Given the description of an element on the screen output the (x, y) to click on. 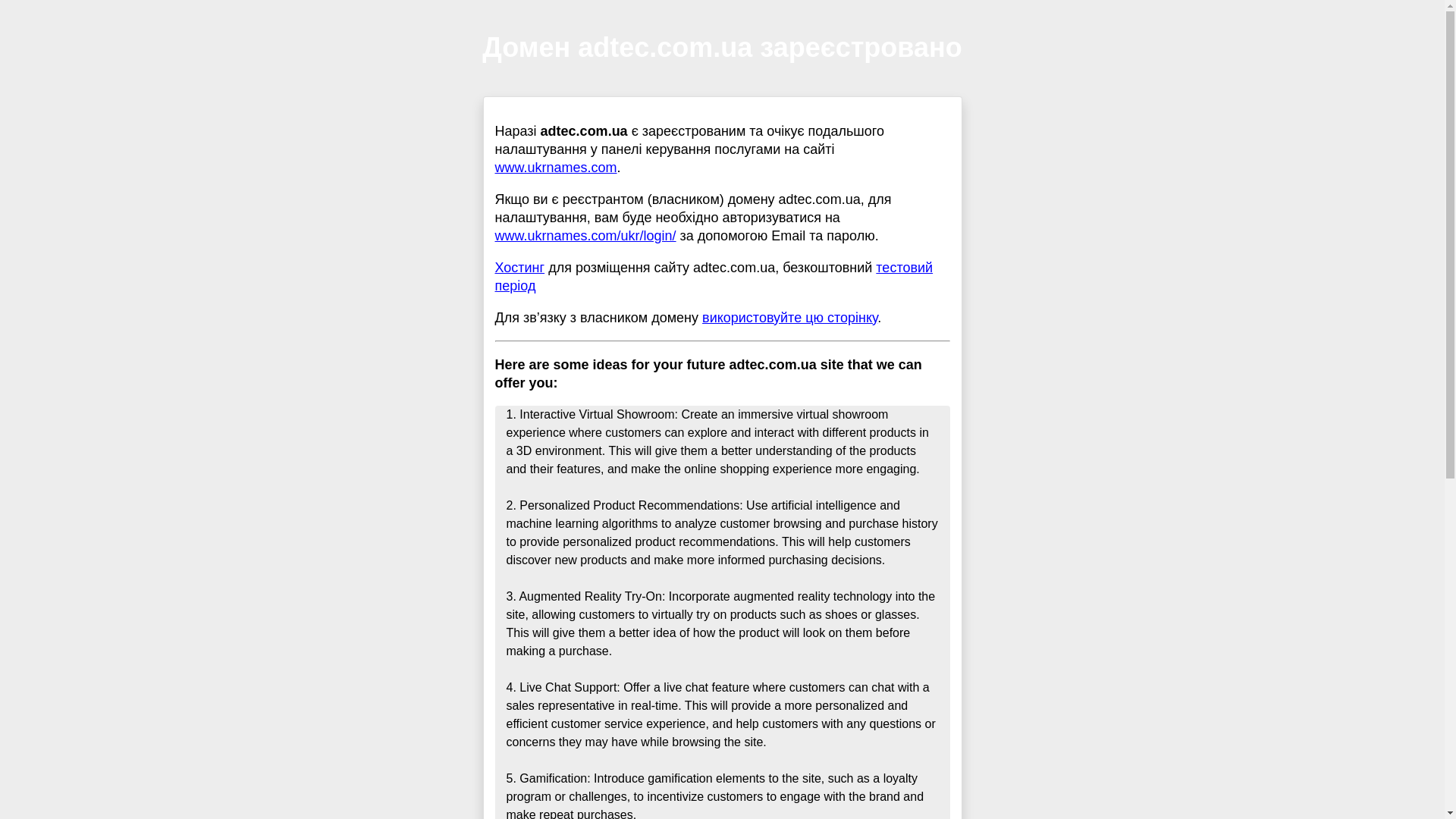
www.ukrnames.com (555, 167)
